Given the description of an element on the screen output the (x, y) to click on. 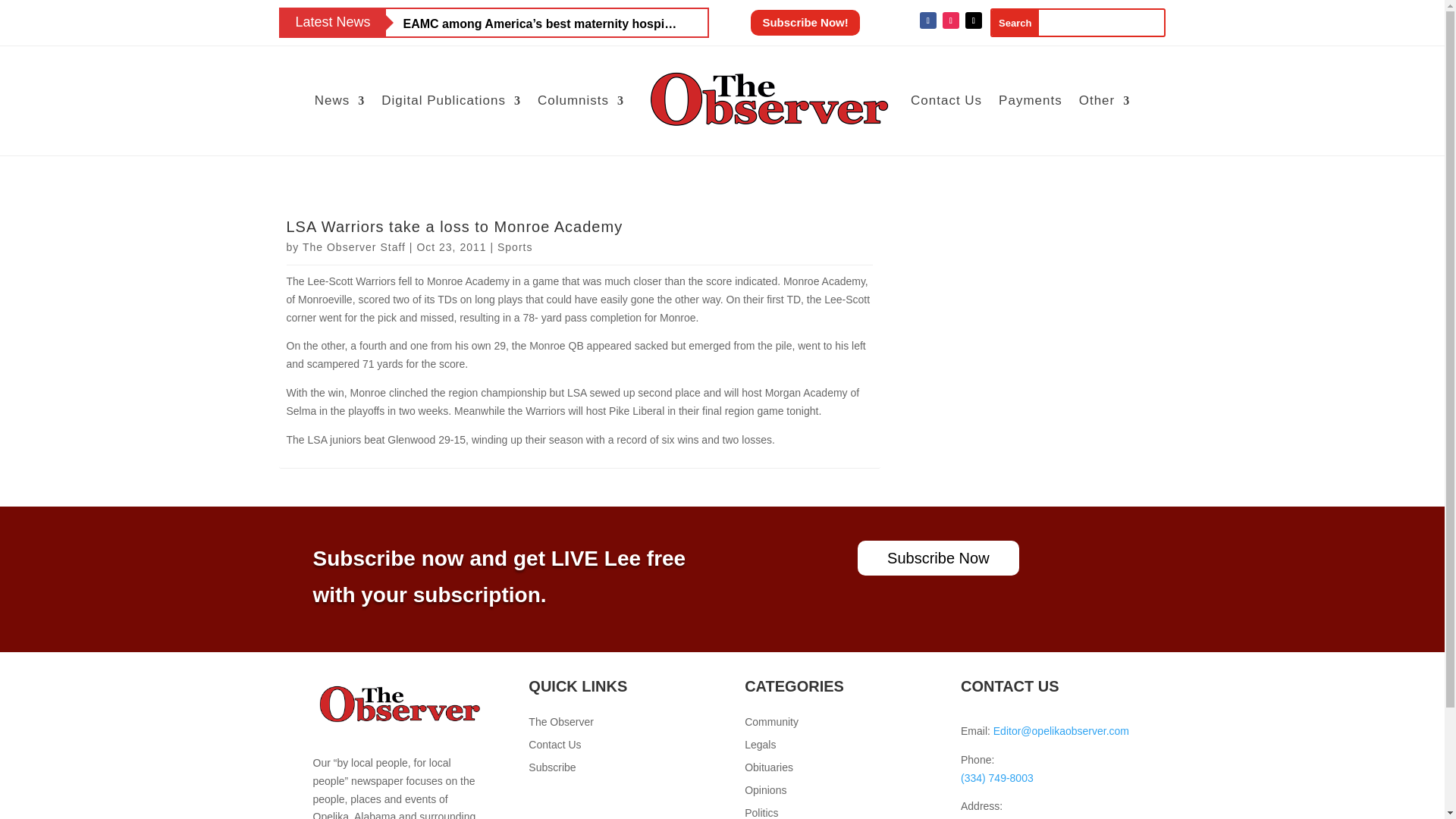
Follow on Facebook (928, 20)
Digital Publications (451, 100)
Follow on Instagram (950, 20)
Posts by The Observer Staff (354, 246)
Subscribe Now! (804, 22)
Search (1015, 22)
Follow on X (973, 20)
Columnists (580, 100)
Search (1015, 22)
Search (1015, 22)
